Given the description of an element on the screen output the (x, y) to click on. 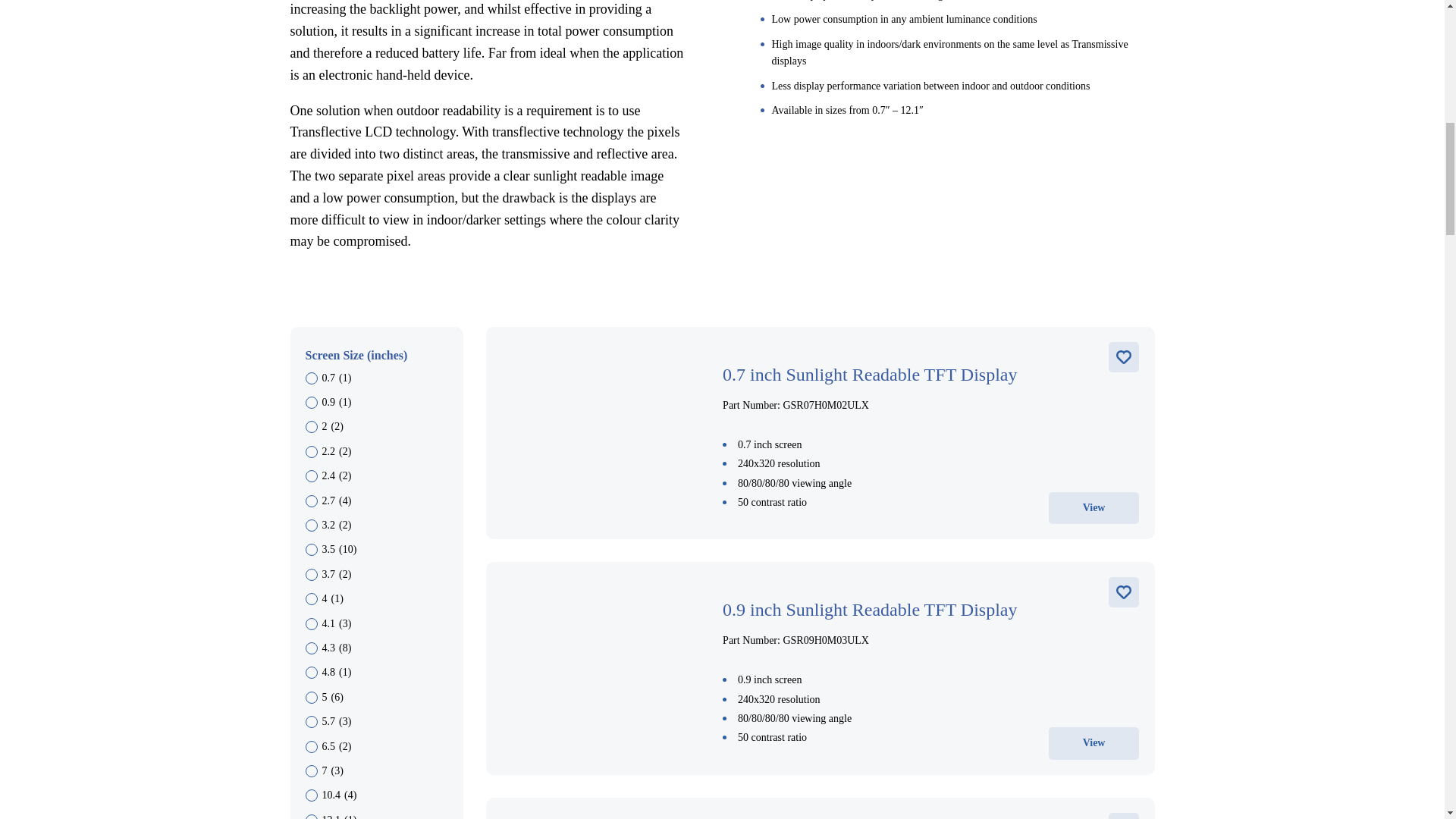
Heart (1123, 592)
View (1094, 508)
View (1094, 743)
Heart (1123, 357)
0.7 inch Sunlight Readable TFT Display (930, 374)
0.9 inch Sunlight Readable TFT Display (930, 609)
